Given the description of an element on the screen output the (x, y) to click on. 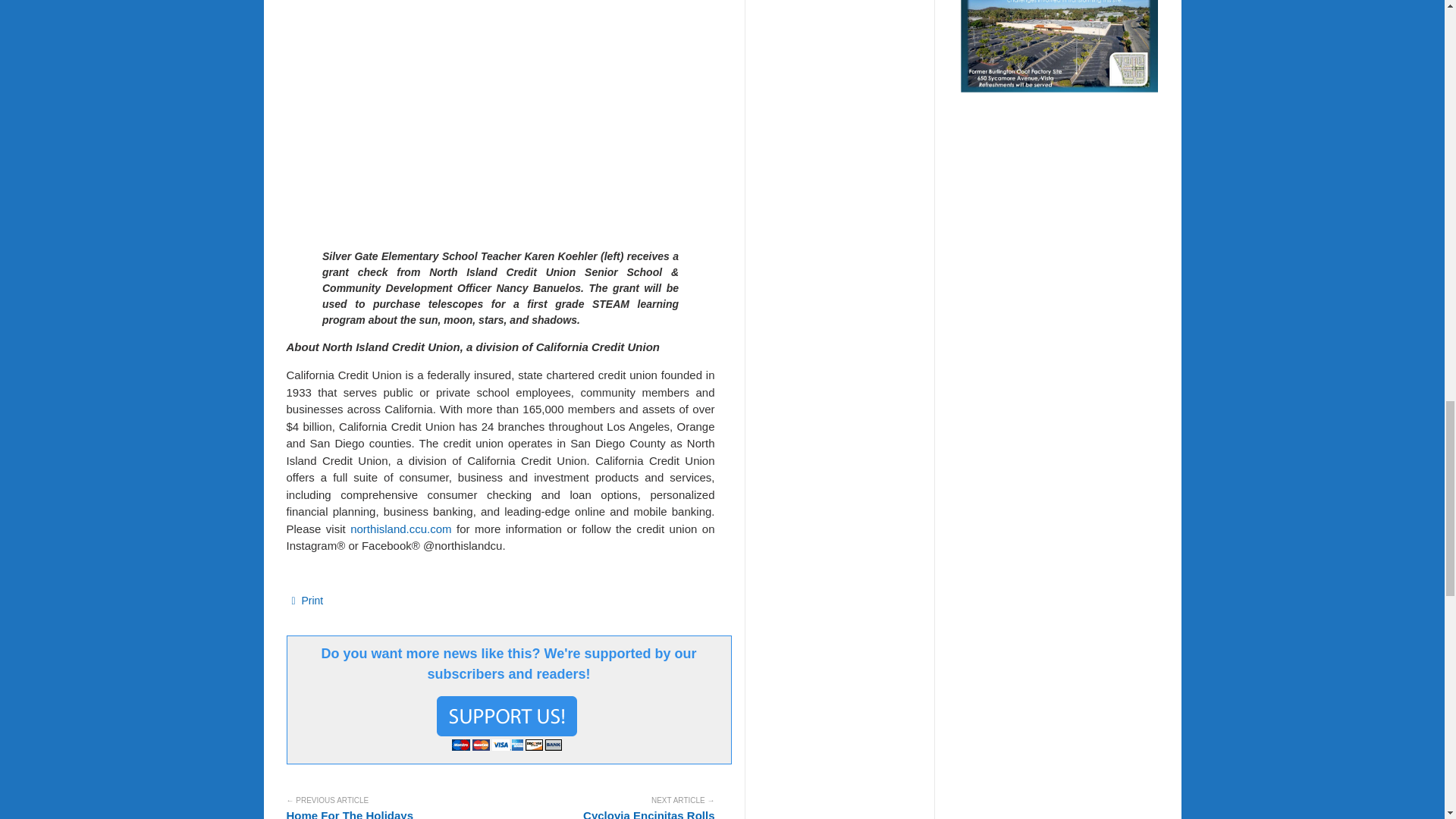
Print Article (307, 600)
  Print (307, 600)
northisland.ccu.com (400, 528)
